Given the description of an element on the screen output the (x, y) to click on. 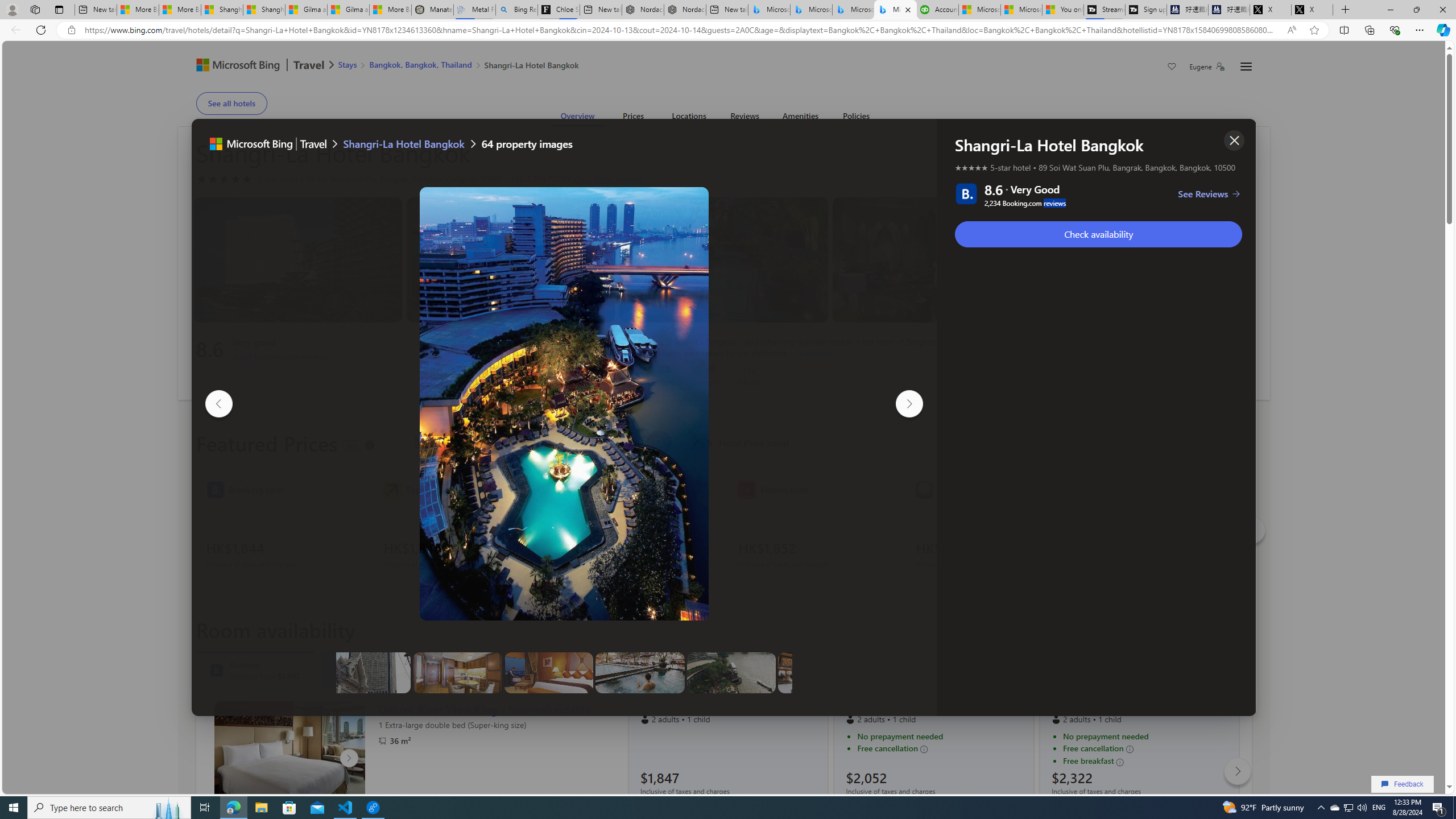
Accounting Software for Accountants, CPAs and Bookkeepers (937, 9)
Microsoft Bing Travel - Stays in Bangkok, Bangkok, Thailand (810, 9)
Streaming Coverage | T3 (1103, 9)
Gilma and Hector both pose tropical trouble for Hawaii (347, 9)
Nordace - #1 Japanese Best-Seller - Siena Smart Backpack (684, 9)
Manatee Mortality Statistics | FWC (432, 9)
